Given the description of an element on the screen output the (x, y) to click on. 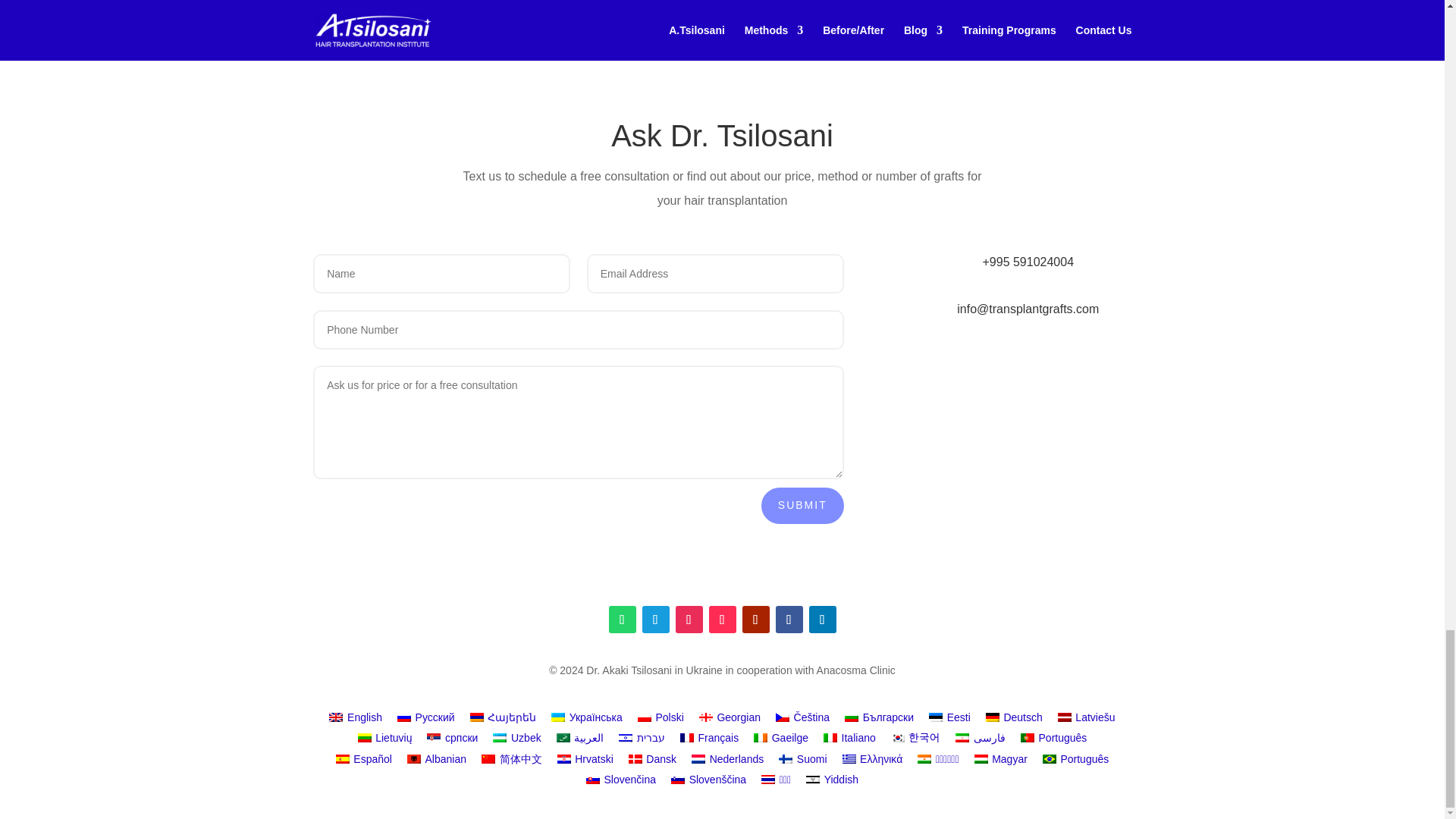
Follow on Telegram (655, 619)
Follow on TikTok (721, 619)
Follow on LinkedIn (821, 619)
Follow on Facebook (788, 619)
B64E9D24-8B96-4605-A8F3-9479A91B1B98 (505, 8)
English (355, 717)
Follow on Youtube (754, 619)
SUBMIT (802, 505)
Polski (660, 717)
Follow on Instagram (688, 619)
Follow on WhatsApp (621, 619)
